Given the description of an element on the screen output the (x, y) to click on. 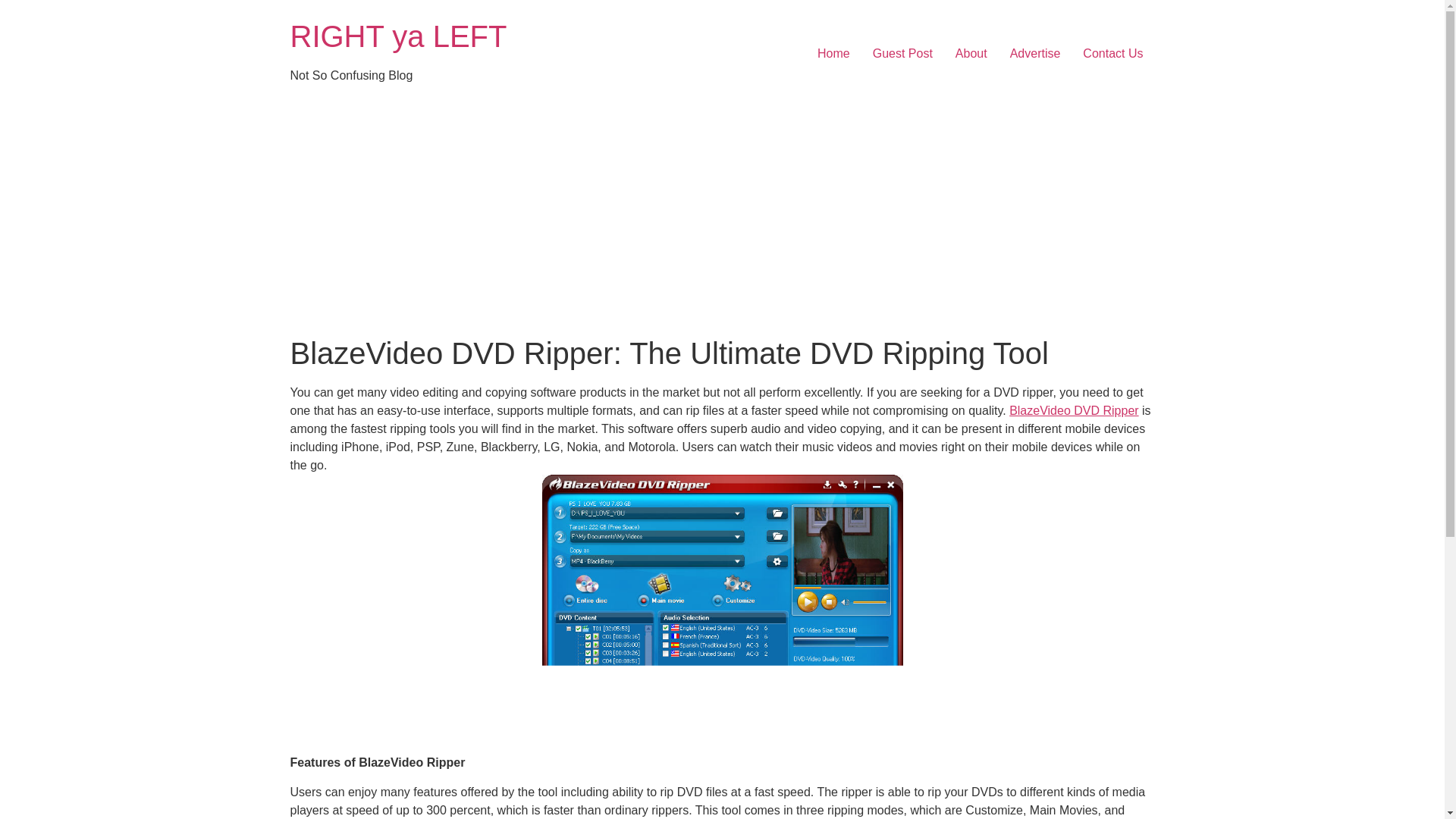
Contact Us (1112, 53)
RIGHT ya LEFT (397, 36)
Advertise (1034, 53)
BlazeVideo DVD Ripper (1073, 410)
Guest Post (902, 53)
Home (833, 53)
Home (397, 36)
About (970, 53)
